Given the description of an element on the screen output the (x, y) to click on. 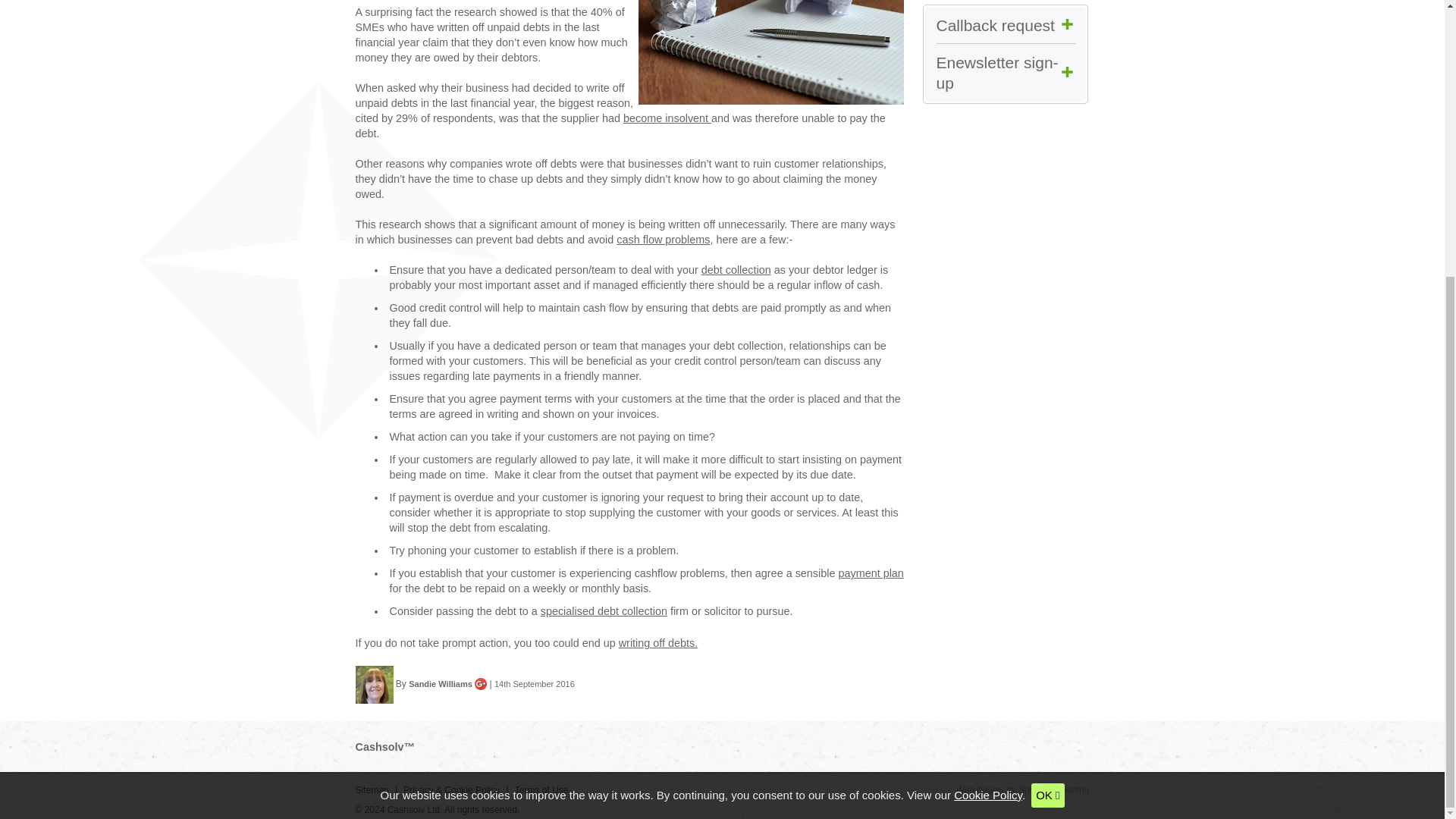
How to solve cashflow problems (662, 239)
OK (1047, 386)
Write off debts with a CVA (658, 643)
Creditor payment plans (870, 573)
How to avoid insolvent liquidations (667, 118)
Debt collection (736, 269)
Specialised debt collection (603, 611)
Cookie Policy (987, 386)
